Given the description of an element on the screen output the (x, y) to click on. 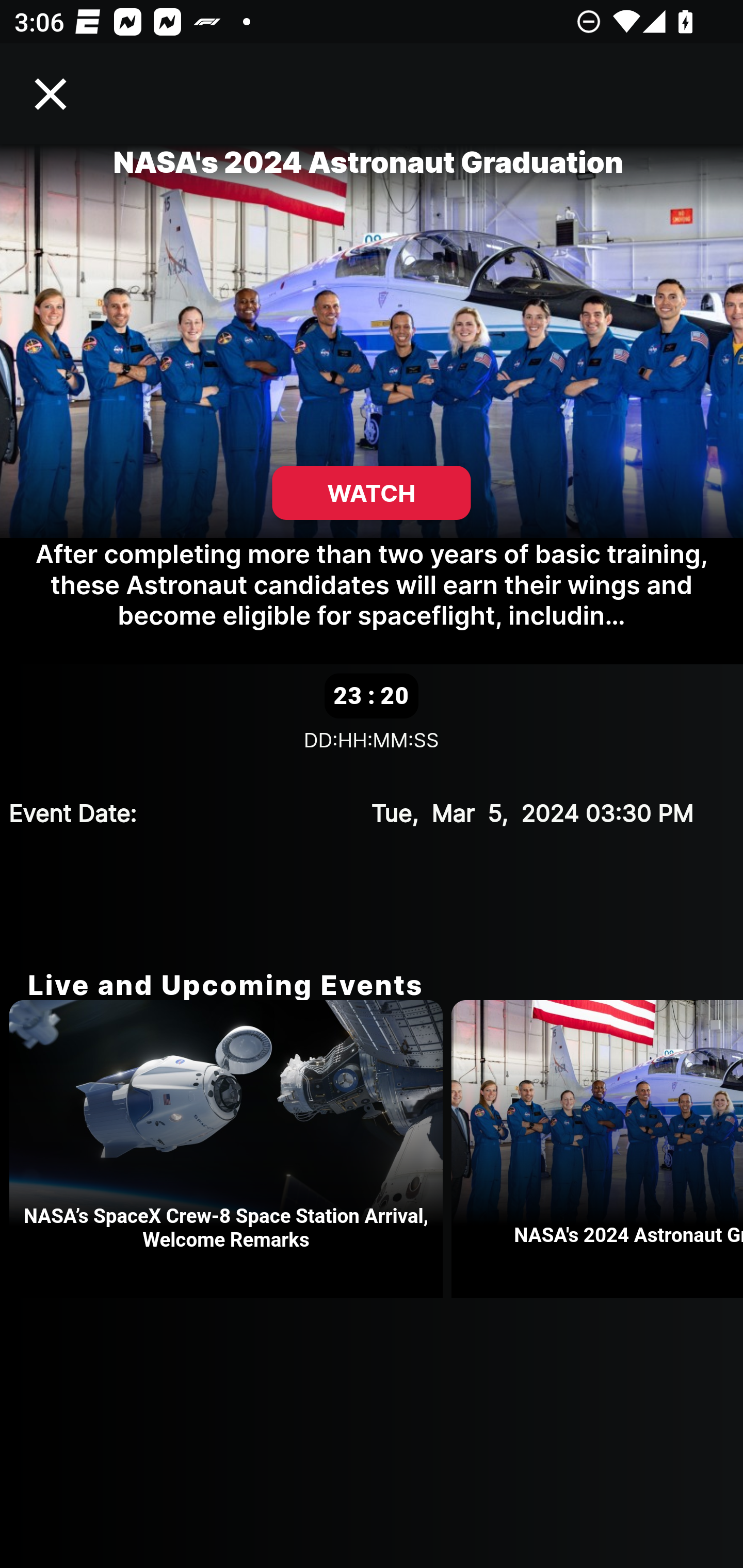
WATCH (371, 492)
NASA's 2024 Astronaut Graduation (597, 1149)
